Given the description of an element on the screen output the (x, y) to click on. 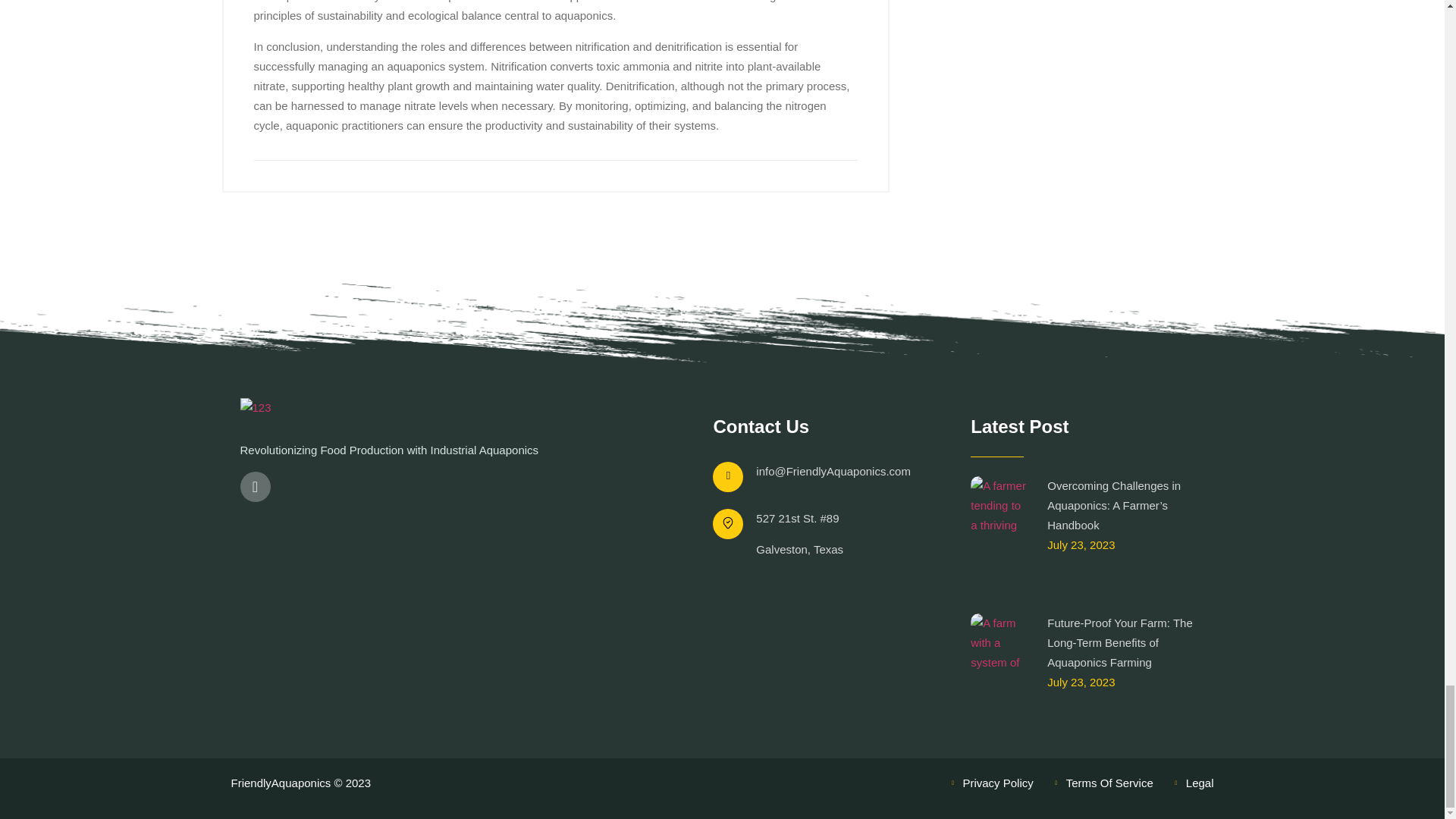
123 (255, 407)
